Given the description of an element on the screen output the (x, y) to click on. 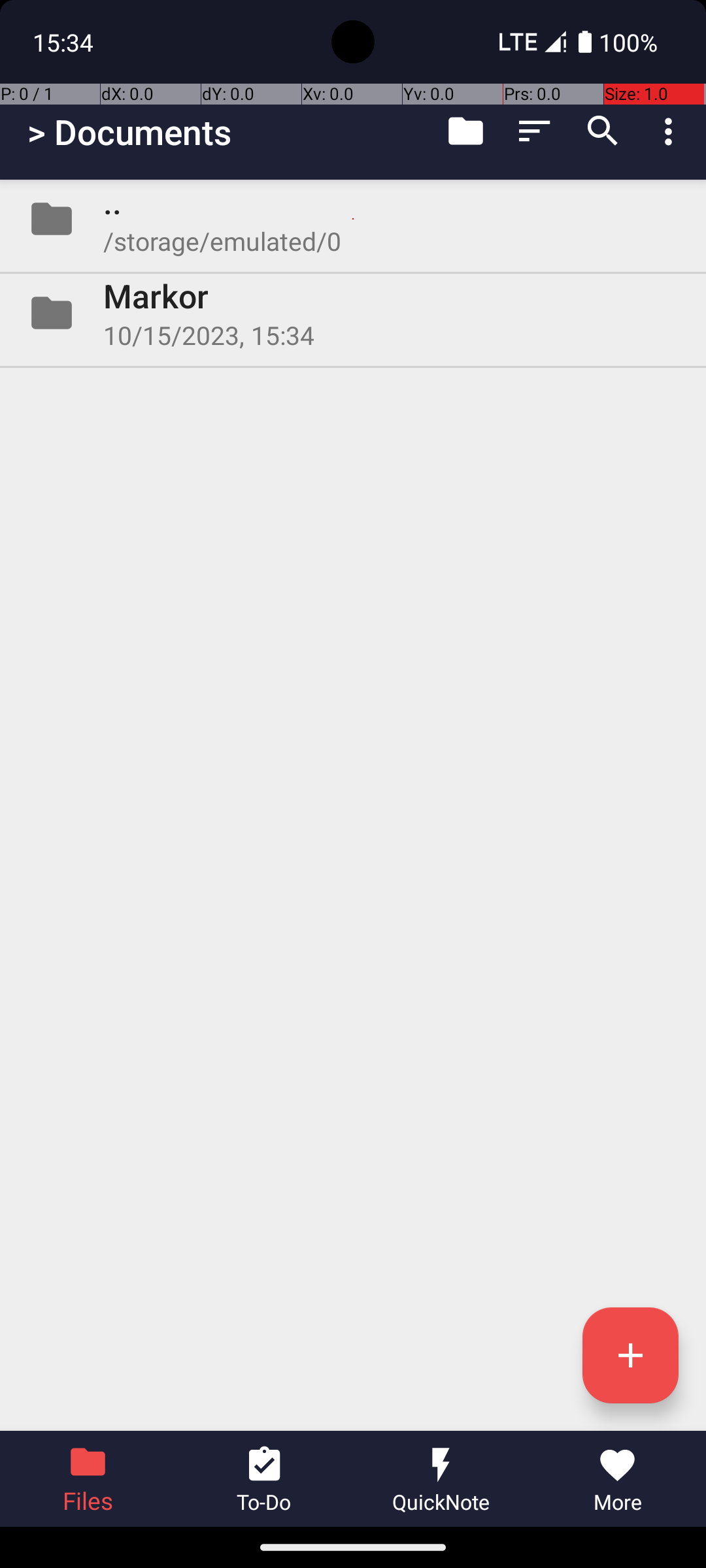
> Documents Element type: android.widget.TextView (129, 131)
Folder Markor  Element type: android.widget.LinearLayout (353, 312)
